Given the description of an element on the screen output the (x, y) to click on. 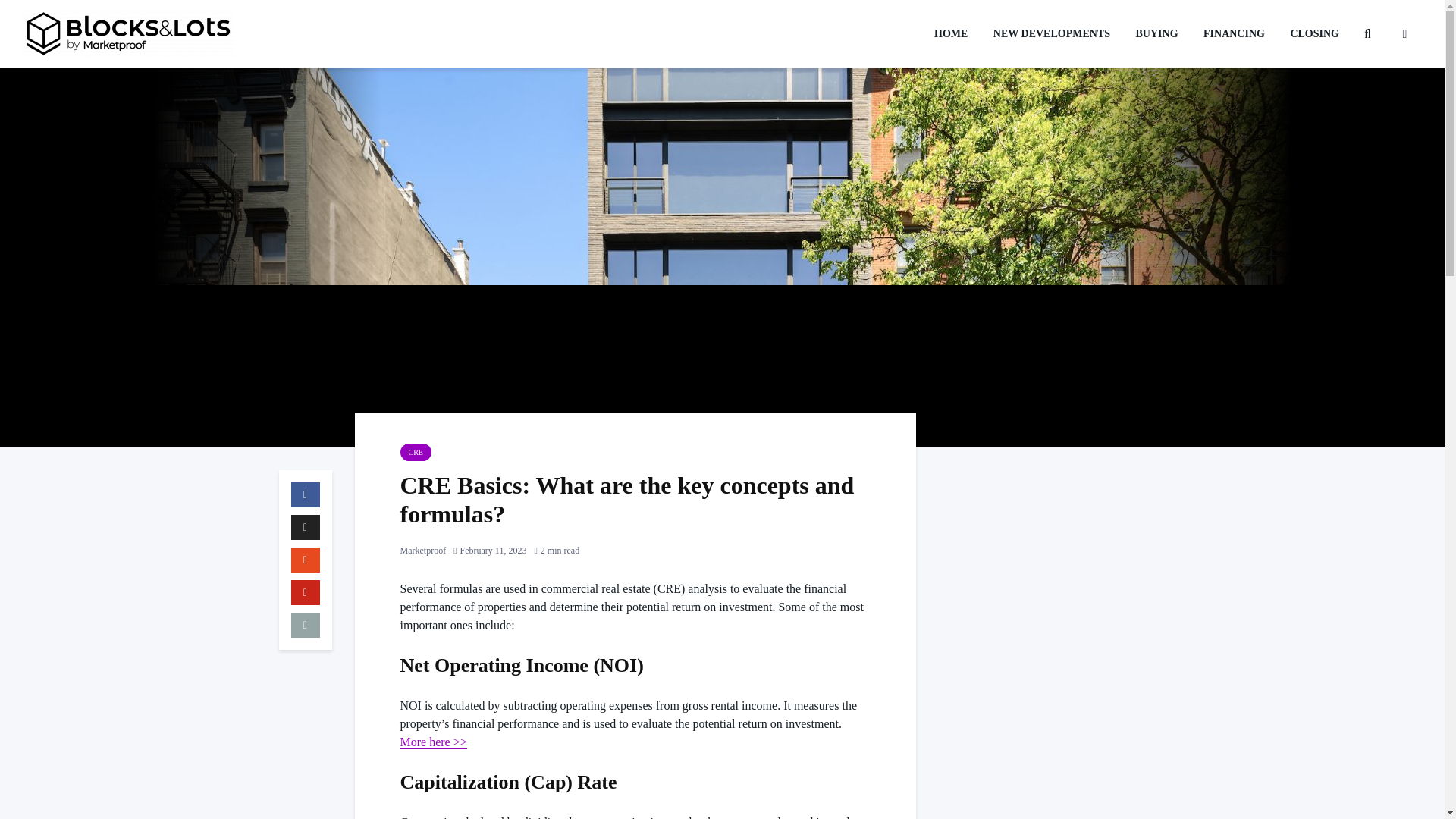
Marketproof (423, 550)
HOME (950, 33)
BUYING (1156, 33)
FINANCING (1234, 33)
CLOSING (1314, 33)
CRE (415, 452)
NEW DEVELOPMENTS (1051, 33)
